Given the description of an element on the screen output the (x, y) to click on. 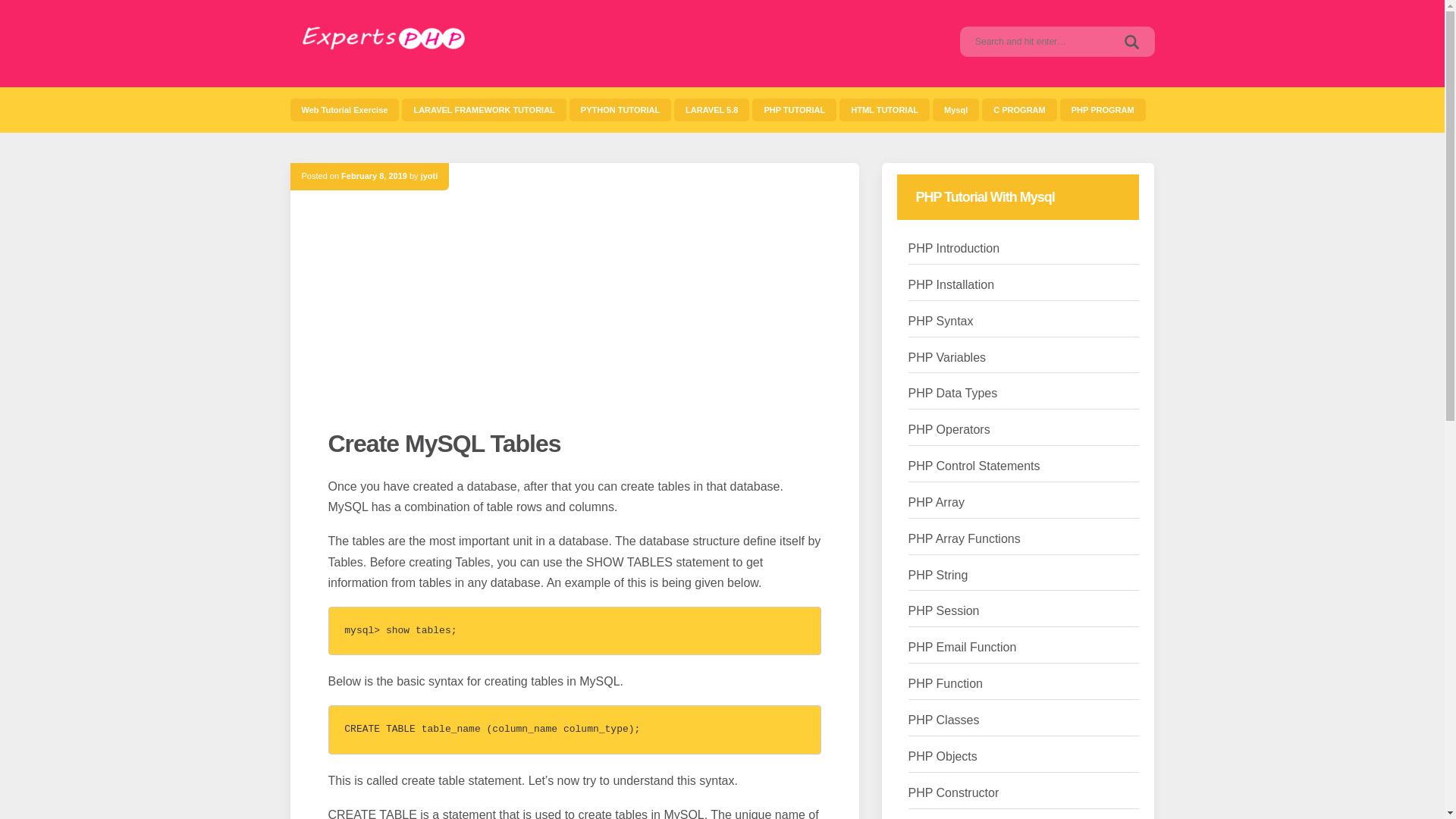
PHP Session (943, 611)
PHP Constructor (953, 792)
LARAVEL 5.8 FRAMEWORK (711, 109)
PHP TUTORIAL (793, 109)
PHP Email Function (962, 648)
PHP Data Types (952, 394)
Search (1131, 41)
Search (1131, 41)
LARAVEL FRAMEWORK TUTORIAL (483, 109)
Search (1131, 41)
Mysql (955, 109)
LARAVEL FRAMEWORK TUTORIAL (483, 109)
PHP PROGRAM (1102, 109)
PYTHON TUTORIAL (620, 109)
PHP Introduction (954, 249)
